Given the description of an element on the screen output the (x, y) to click on. 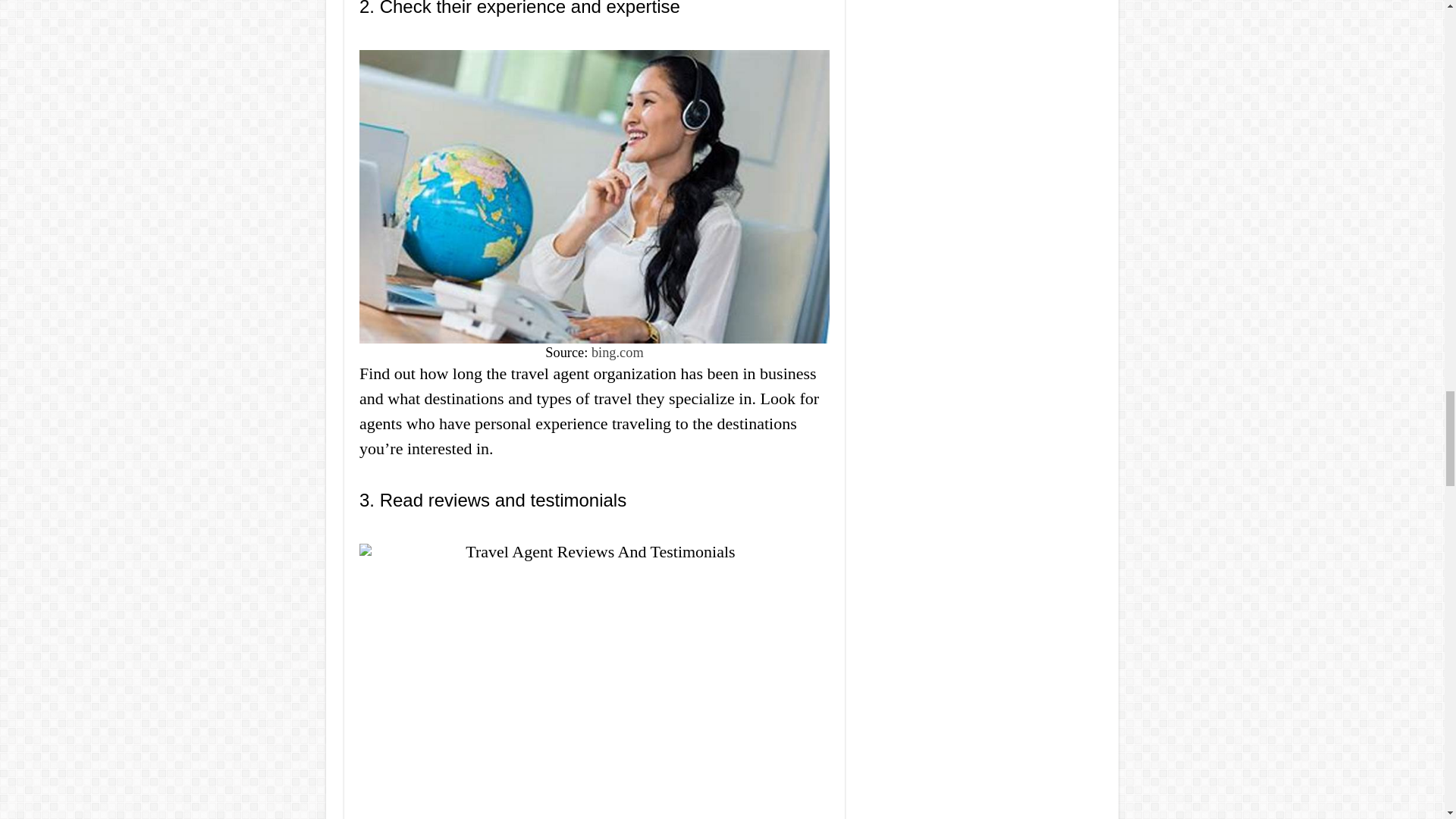
bing.com (617, 352)
